Given the description of an element on the screen output the (x, y) to click on. 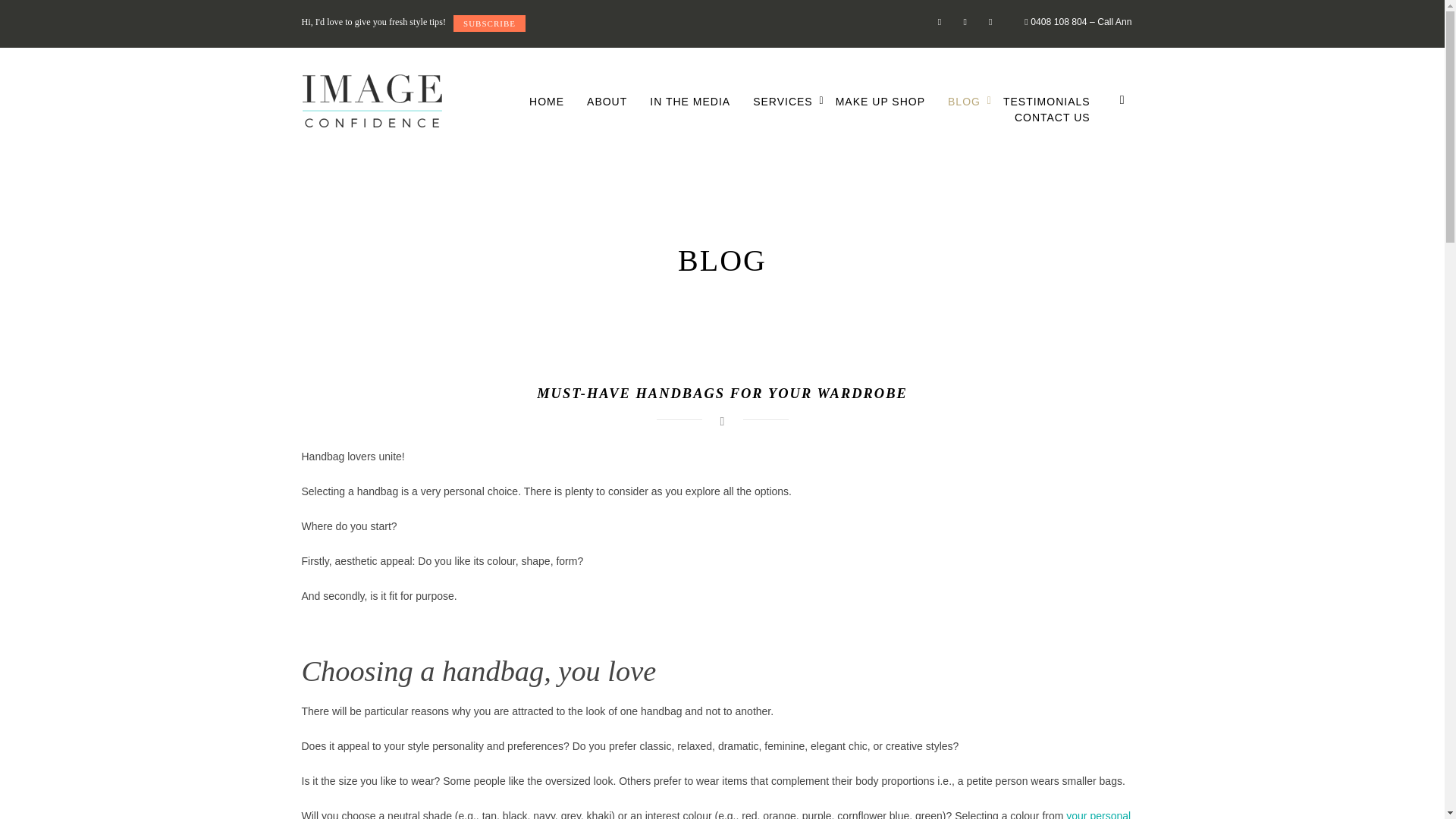
ABOUT (606, 100)
CONTACT US (1052, 116)
IN THE MEDIA (689, 100)
HOME (546, 100)
TESTIMONIALS (1046, 100)
HOME (564, 227)
SUBSCRIBE (488, 23)
Image Confidence (371, 100)
BLOG (963, 100)
MAKE UP SHOP (879, 100)
